Given the description of an element on the screen output the (x, y) to click on. 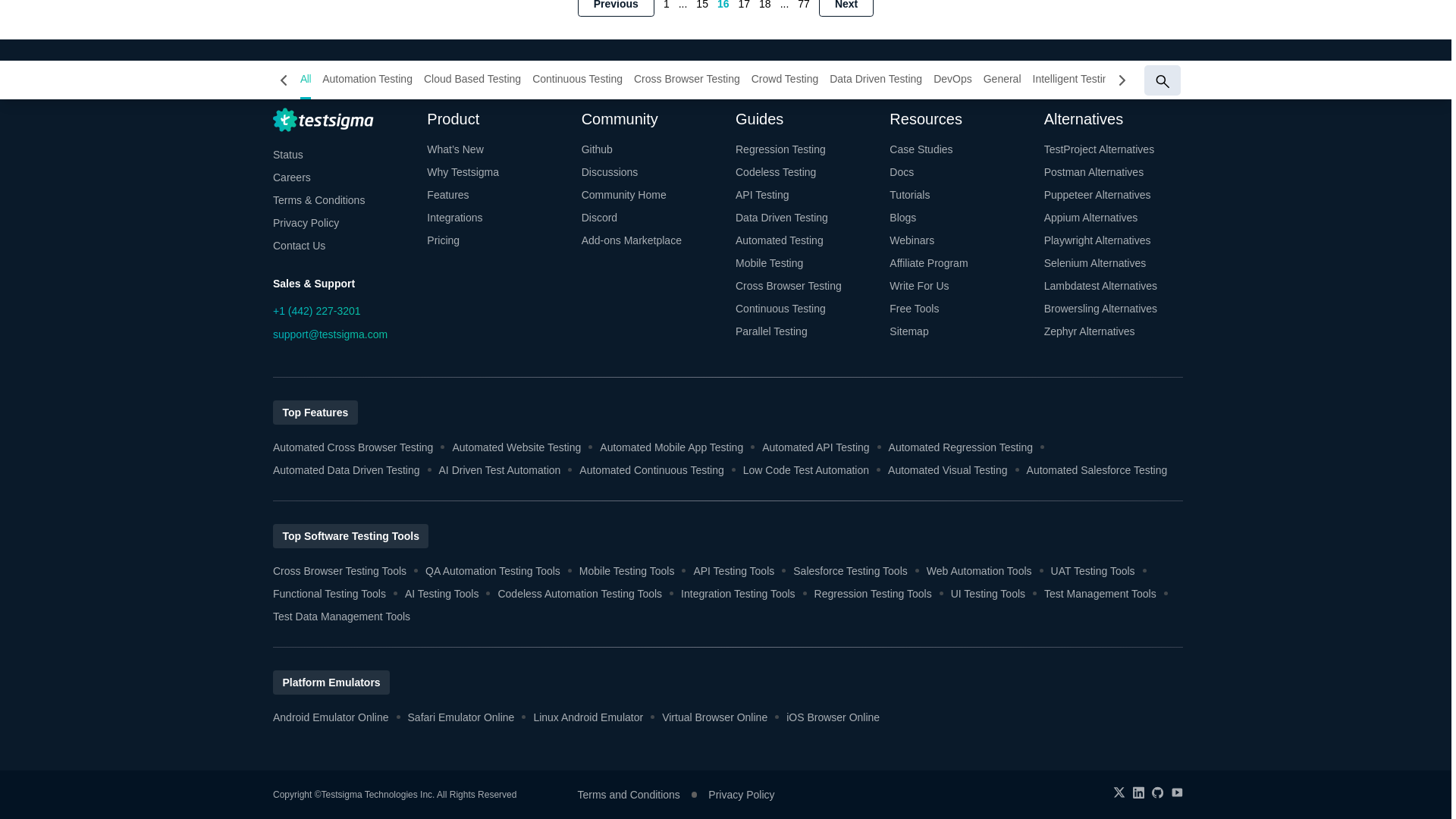
17 (744, 4)
Why Testsigma (496, 171)
Regression Testing (805, 149)
Github (650, 149)
Cross Browser Testing (805, 285)
Discord (650, 217)
Previous (615, 8)
Mobile Testing (805, 262)
Next (845, 8)
16 (723, 4)
